Given the description of an element on the screen output the (x, y) to click on. 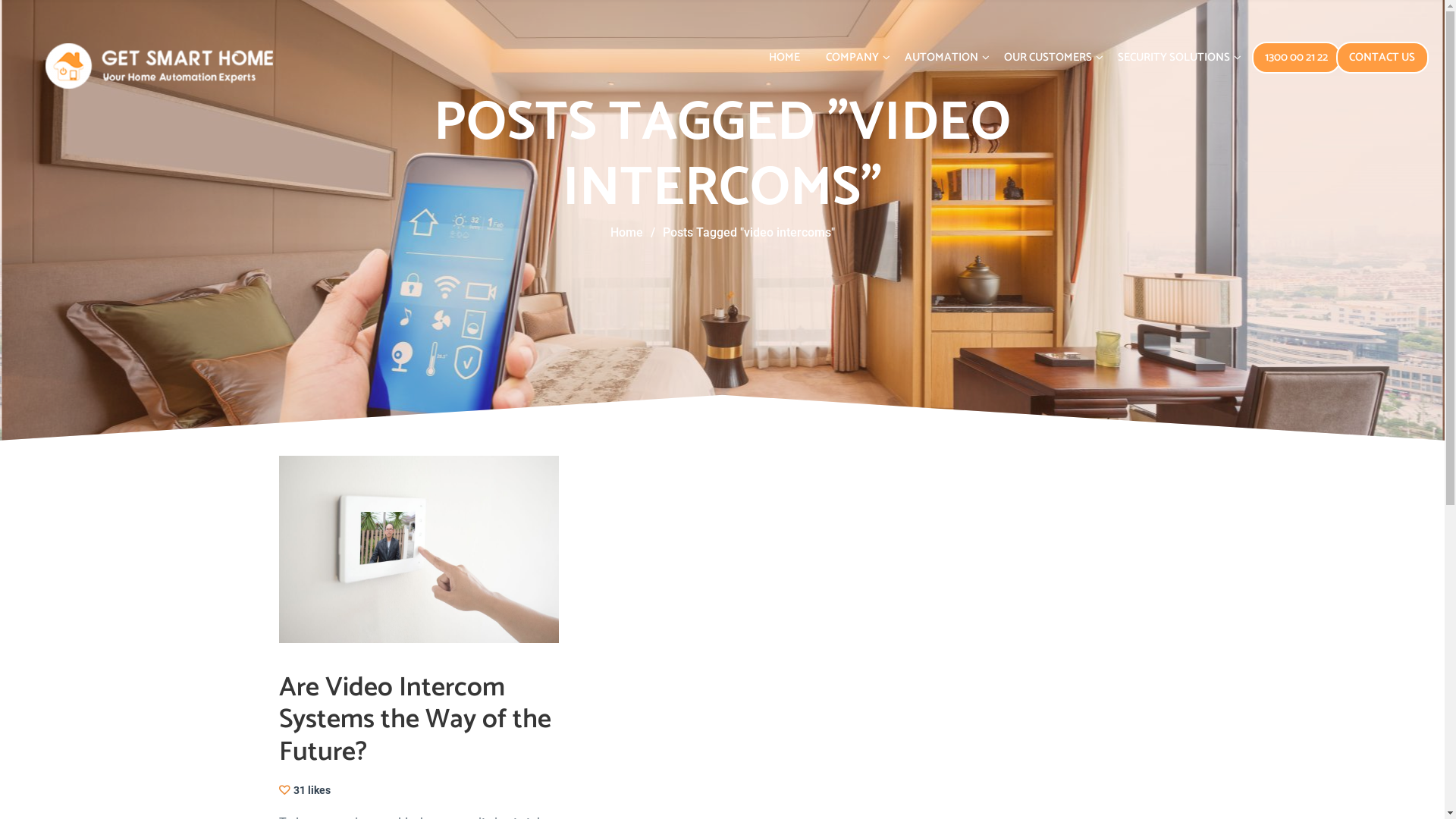
Instagram Element type: hover (1050, 793)
Privacy Policy Element type: text (436, 793)
1300 00 21 22 Element type: text (626, 573)
AUTOMATION Element type: text (941, 57)
Catalogue Element type: text (989, 552)
1300 00 21 22 Element type: text (1296, 57)
Videos Element type: text (981, 625)
COMPANY Element type: text (852, 57)
Email Element type: hover (1157, 793)
info@getsmarthome.com.au Element type: text (662, 552)
31 likes Element type: text (304, 790)
Youtube Element type: hover (1104, 793)
OUR CUSTOMERS Element type: text (1047, 57)
CONTACT US Element type: text (1382, 57)
Linkedin Element type: hover (1077, 793)
Are Video Intercom Systems the Way of the Future? Element type: text (415, 719)
Automation Element type: text (387, 601)
Starter Kits Element type: text (991, 649)
Home Element type: text (625, 232)
Security Solutions Element type: text (403, 649)
News & Articles Element type: text (1004, 601)
8/53-57 Rimfire Drive Hallam Vic-3803, Australia Element type: text (713, 595)
SECURITY SOLUTIONS Element type: text (1173, 57)
Vimeo Element type: hover (1131, 793)
Facebook Element type: hover (1024, 793)
HOME Element type: text (784, 57)
Process Workflow Element type: text (1010, 576)
Blackbox Design Element type: text (590, 793)
Company Element type: text (380, 576)
Home Element type: text (372, 552)
Our Customers Element type: text (395, 625)
